Given the description of an element on the screen output the (x, y) to click on. 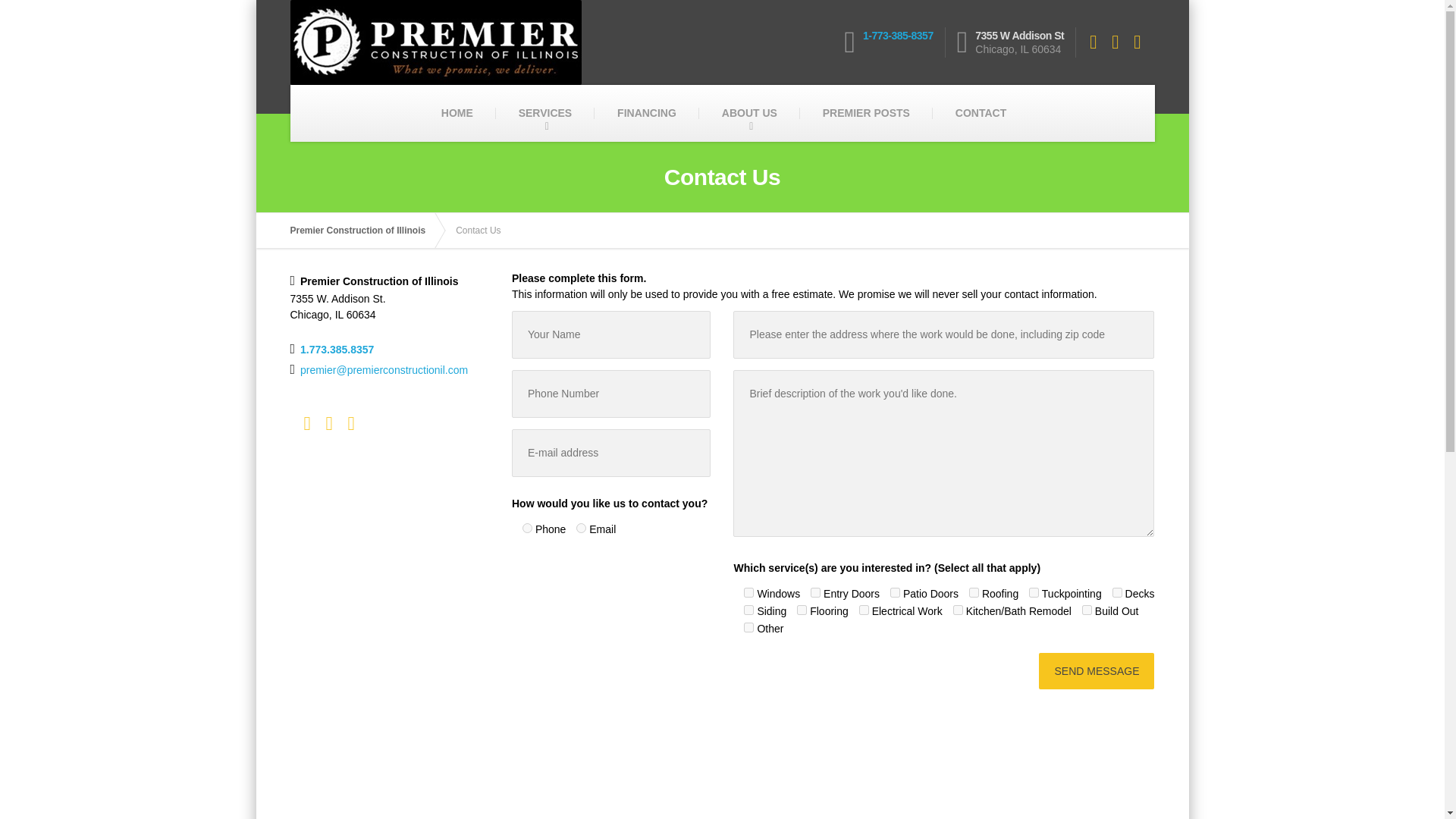
FINANCING (646, 113)
HOME (457, 113)
Windows (749, 592)
SEND MESSAGE (1096, 670)
Other (749, 627)
Flooring (801, 610)
SERVICES (545, 113)
Decks (1117, 592)
Tuckpointing (1034, 592)
Patio Doors (894, 592)
